Given the description of an element on the screen output the (x, y) to click on. 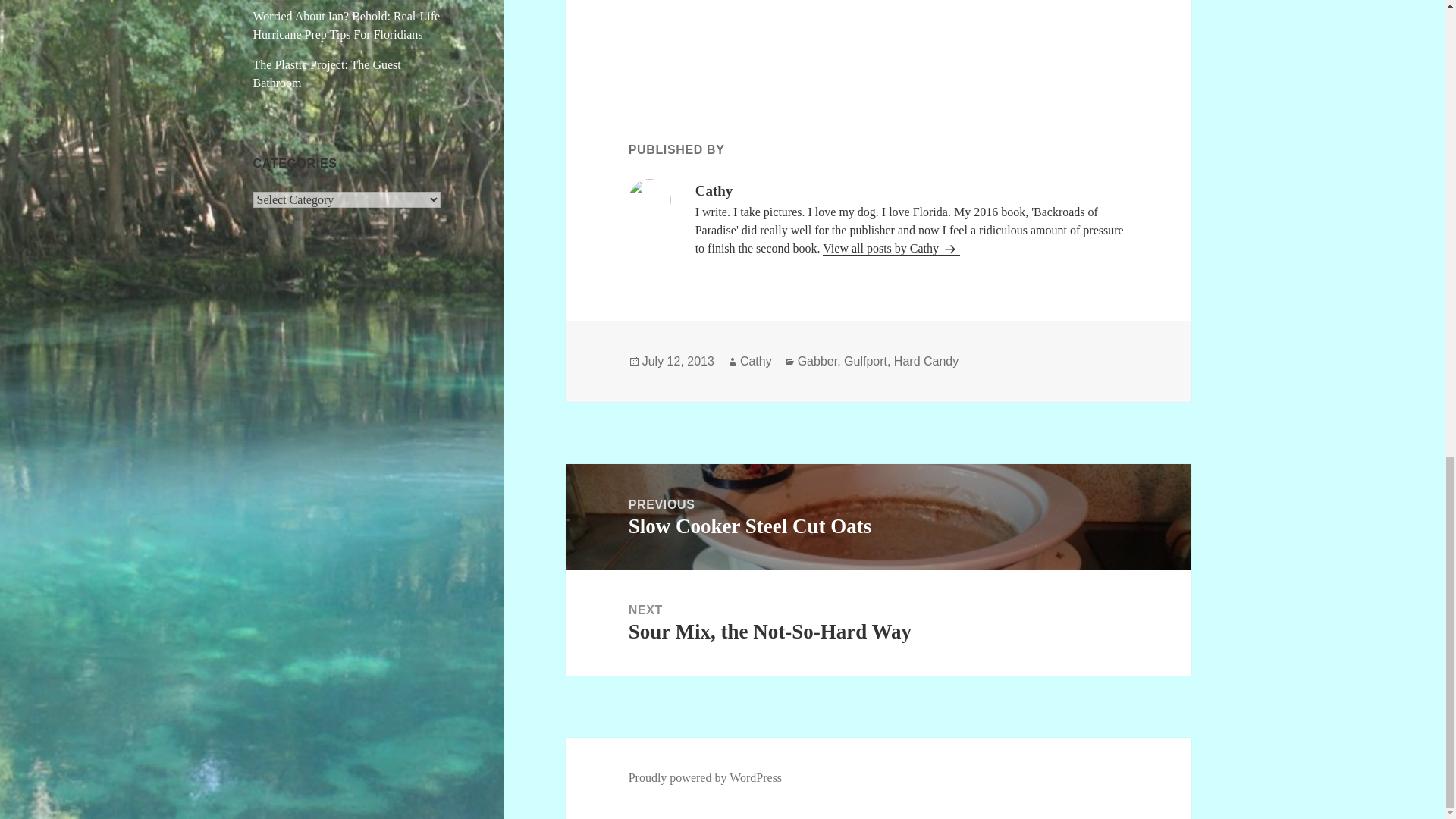
Proudly powered by WordPress (704, 777)
July 12, 2013 (678, 361)
Cathy (878, 516)
View all posts by Cathy (755, 361)
Gulfport (890, 248)
Hard Candy (865, 361)
Gabber (925, 361)
The Plastic Project: The Guest Bathroom (817, 361)
